Given the description of an element on the screen output the (x, y) to click on. 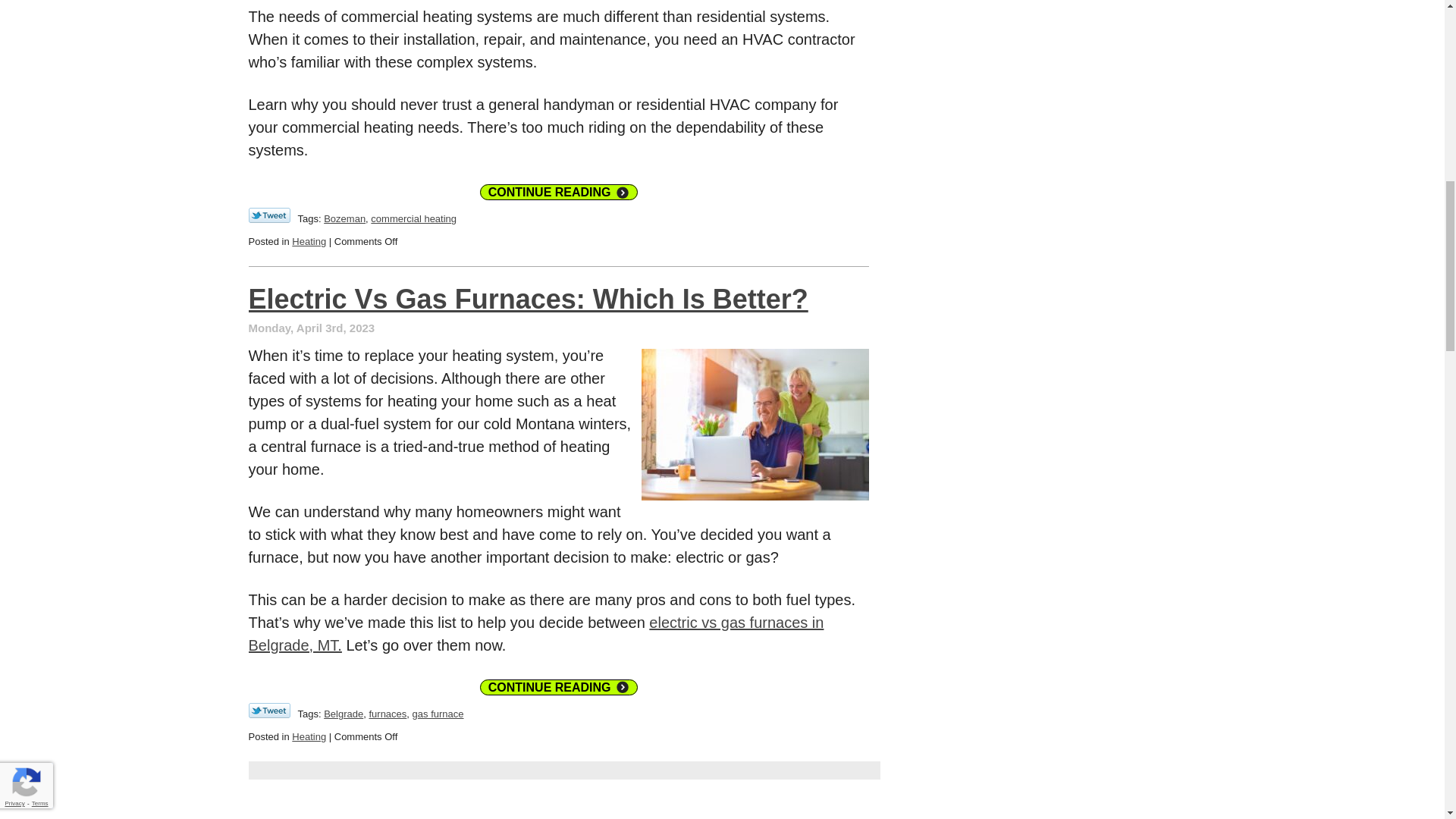
Permanent Link to Electric Vs Gas Furnaces: Which Is Better? (558, 687)
Permanent Link to Electric Vs Gas Furnaces: Which Is Better? (528, 298)
